Given the description of an element on the screen output the (x, y) to click on. 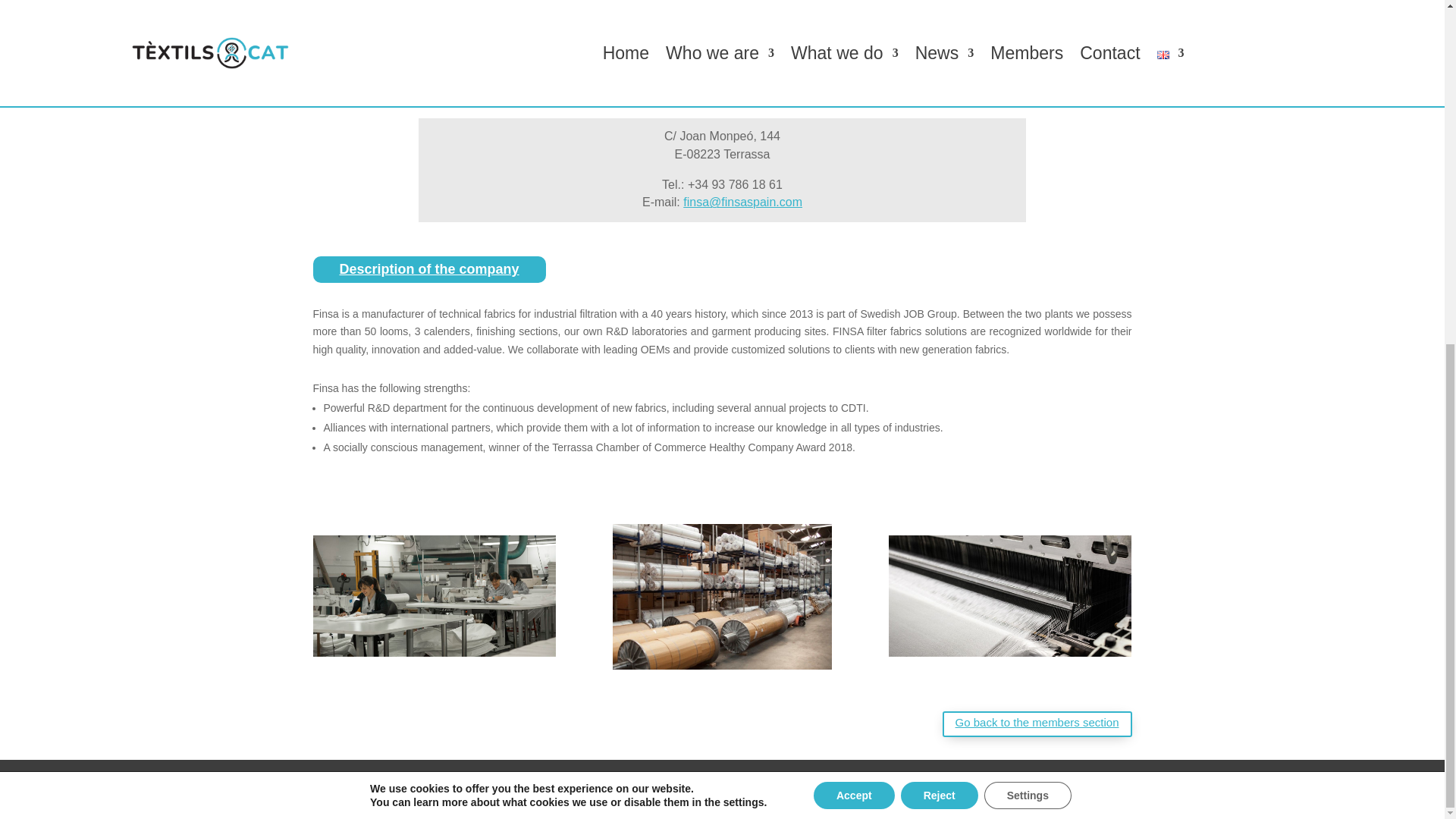
INDUSTRIAL USES (765, 25)
PROTECTION E (677, 25)
